Given the description of an element on the screen output the (x, y) to click on. 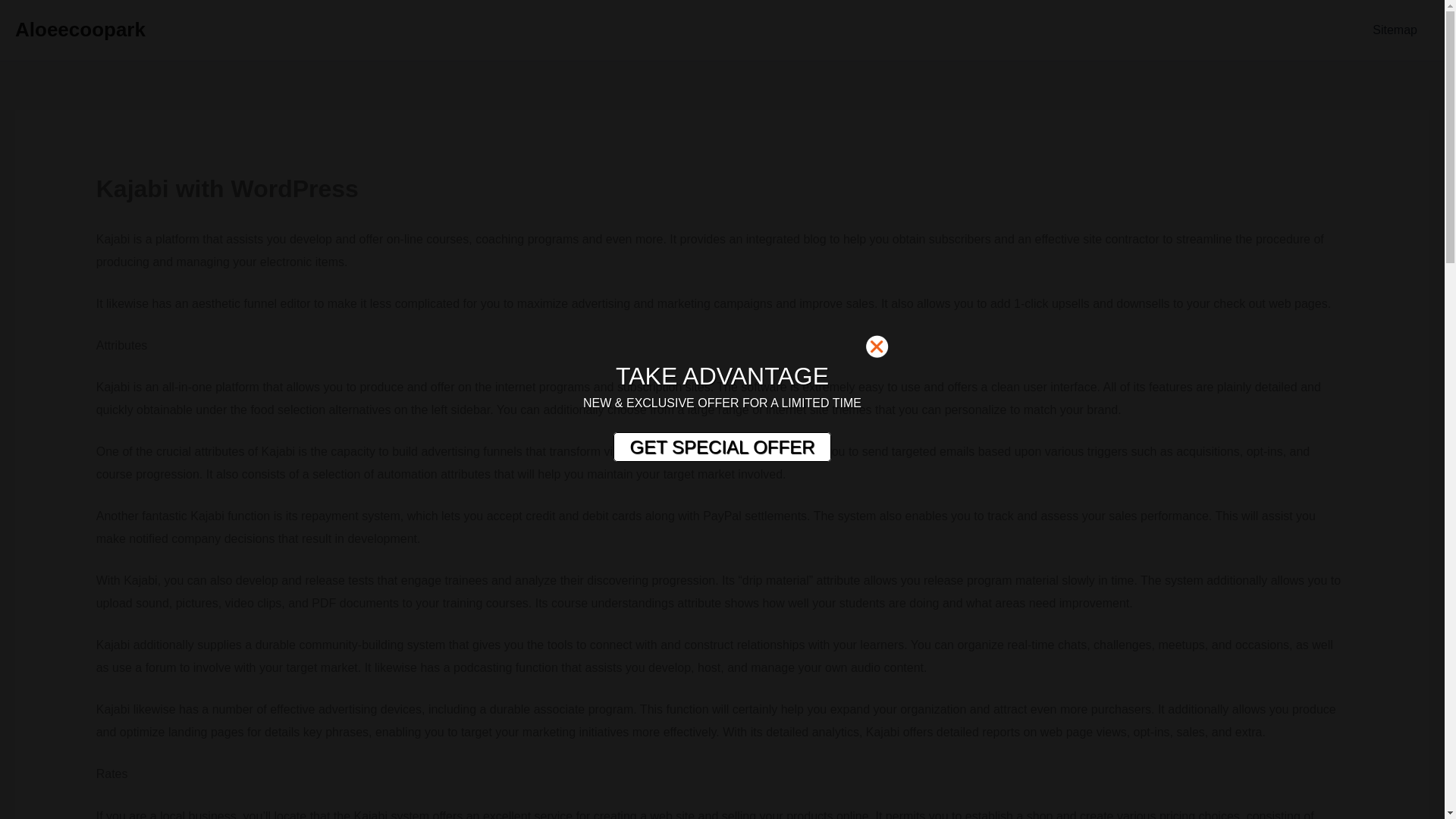
Sitemap (1394, 30)
GET SPECIAL OFFER (720, 446)
Aloeecoopark (79, 29)
